Given the description of an element on the screen output the (x, y) to click on. 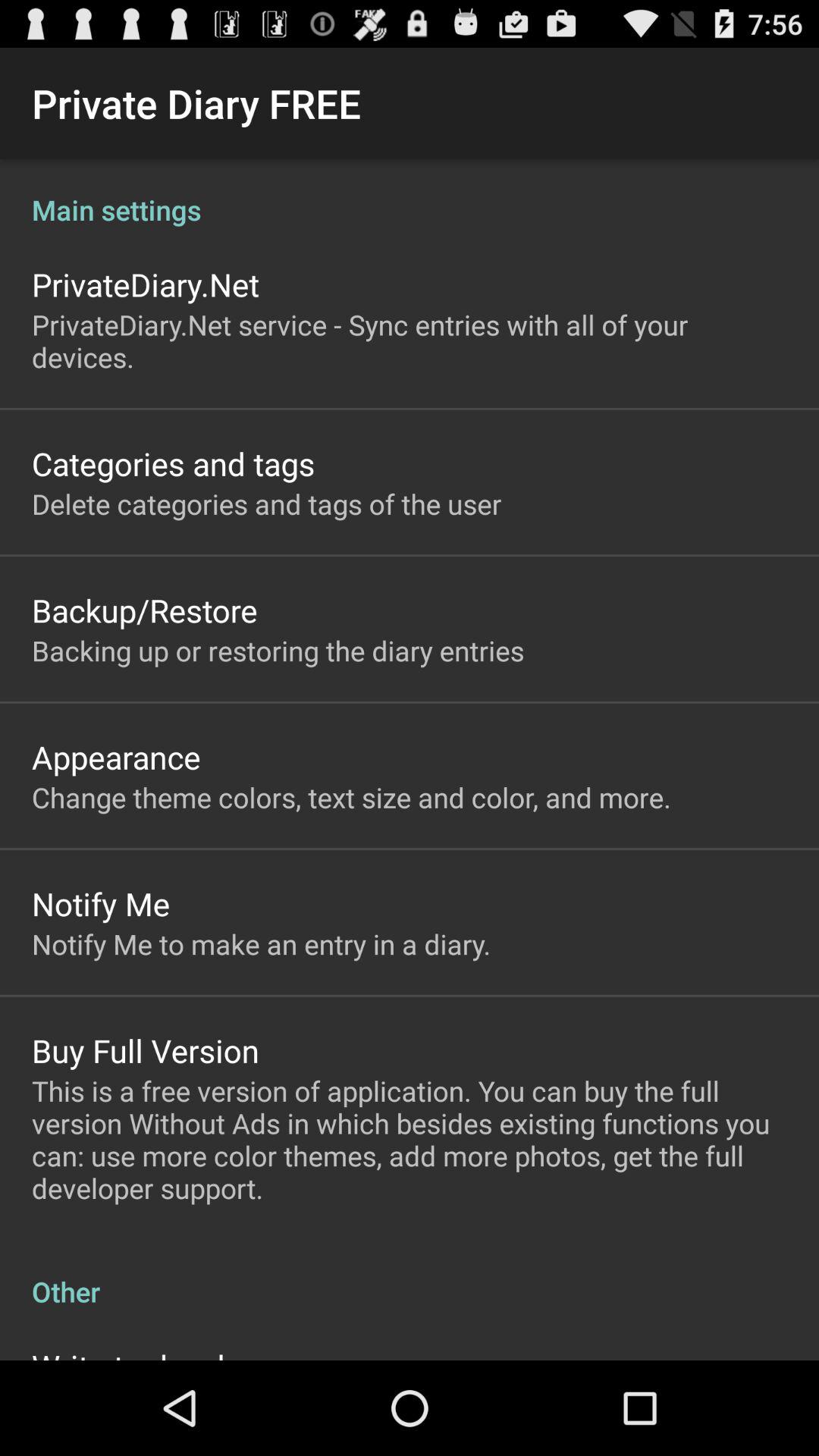
click app above other app (409, 1139)
